Given the description of an element on the screen output the (x, y) to click on. 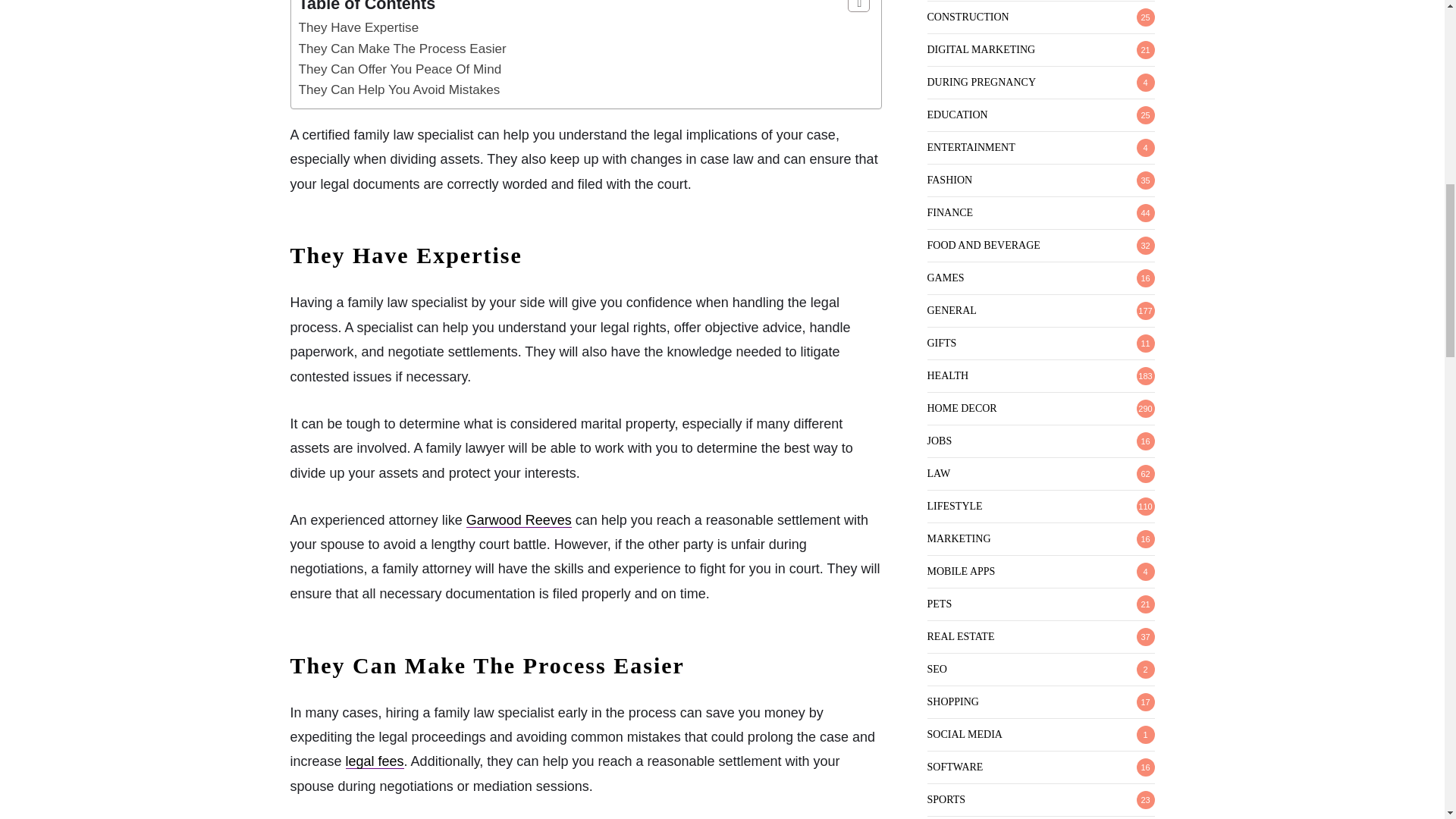
They Can Offer You Peace Of Mind (400, 69)
They Have Expertise (358, 27)
They Can Help You Avoid Mistakes (399, 89)
They Can Make The Process Easier (402, 48)
